Given the description of an element on the screen output the (x, y) to click on. 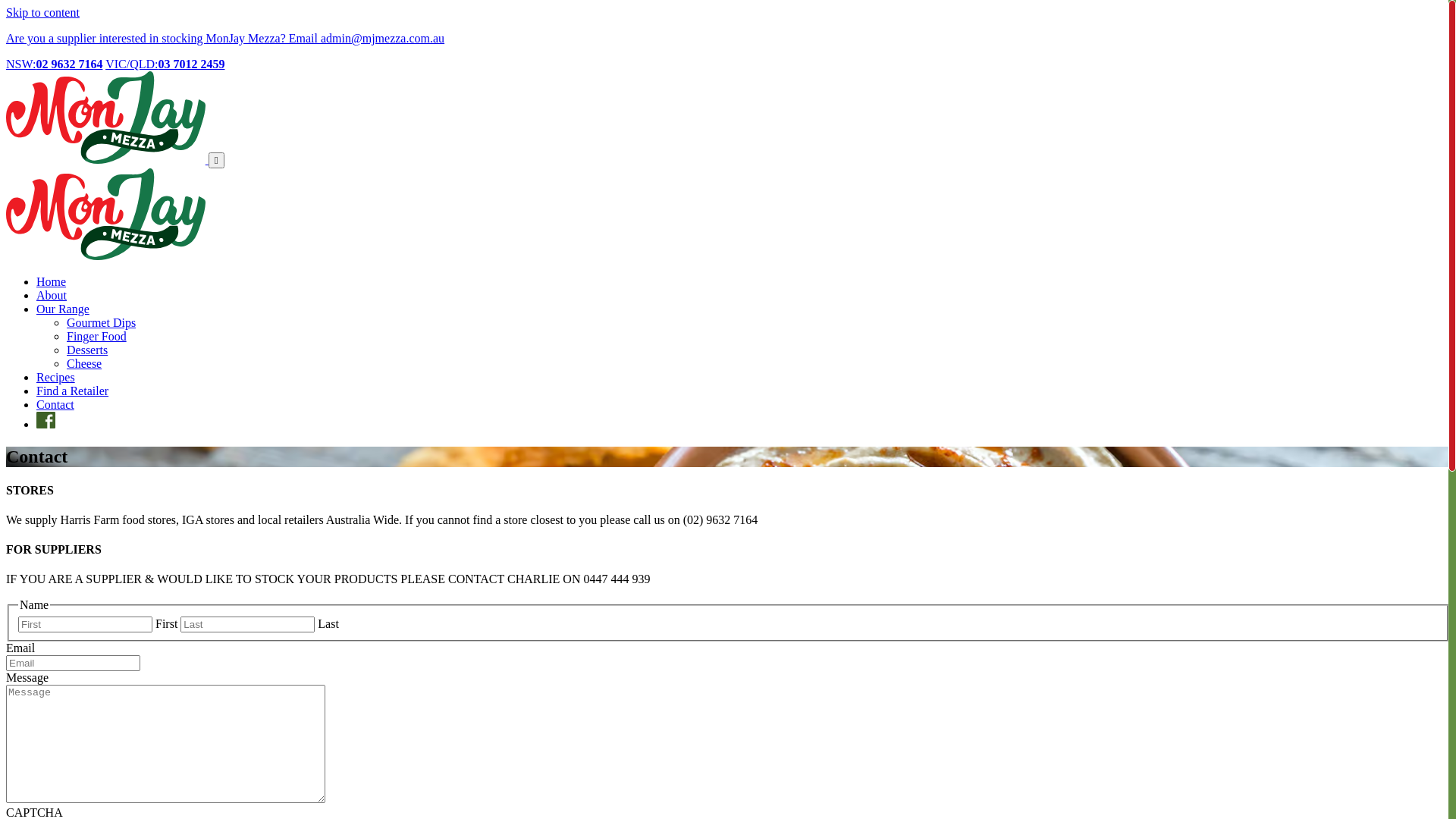
VIC/QLD:03 7012 2459 Element type: text (164, 63)
Our Range Element type: text (62, 308)
Recipes Element type: text (55, 376)
Desserts Element type: text (86, 349)
Finger Food Element type: text (96, 335)
Find a Retailer Element type: text (72, 390)
Cheese Element type: text (83, 363)
Monjay Mezza Element type: hover (105, 117)
Monjay Mezza - The home of traditional Middle Eastern Dips Element type: hover (107, 159)
Contact Element type: text (55, 404)
Monjay Mezza Element type: hover (105, 214)
Monjay Mezza - The home of traditional Middle Eastern Dips Element type: hover (105, 255)
Home Element type: text (50, 281)
Skip to content Element type: text (42, 12)
Gourmet Dips Element type: text (100, 322)
About Element type: text (51, 294)
NSW:02 9632 7164 Element type: text (54, 63)
